Given the description of an element on the screen output the (x, y) to click on. 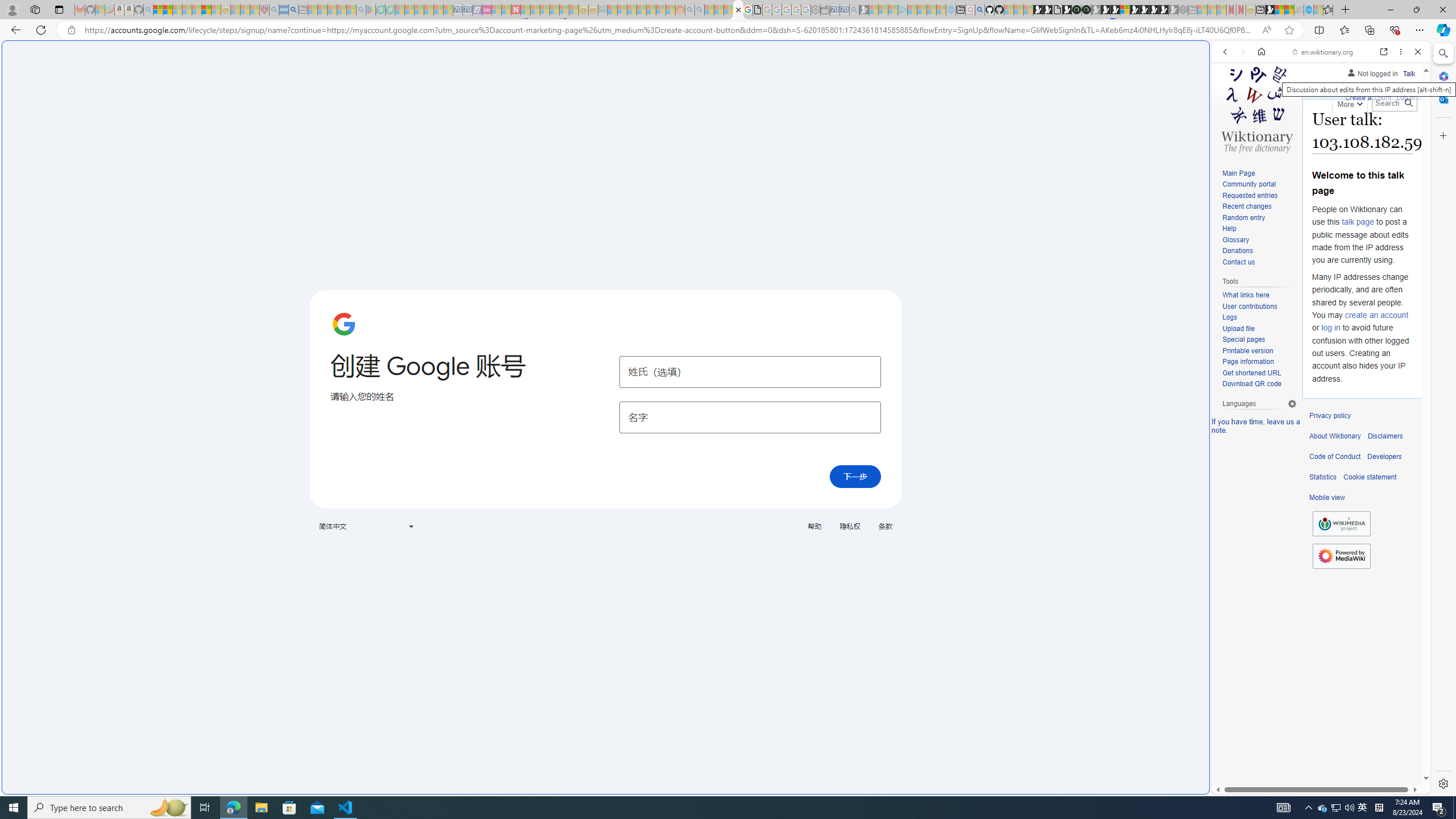
Privacy policy (1329, 415)
Special pages (1259, 339)
Language settings (1292, 403)
create an account (1376, 314)
